Given the description of an element on the screen output the (x, y) to click on. 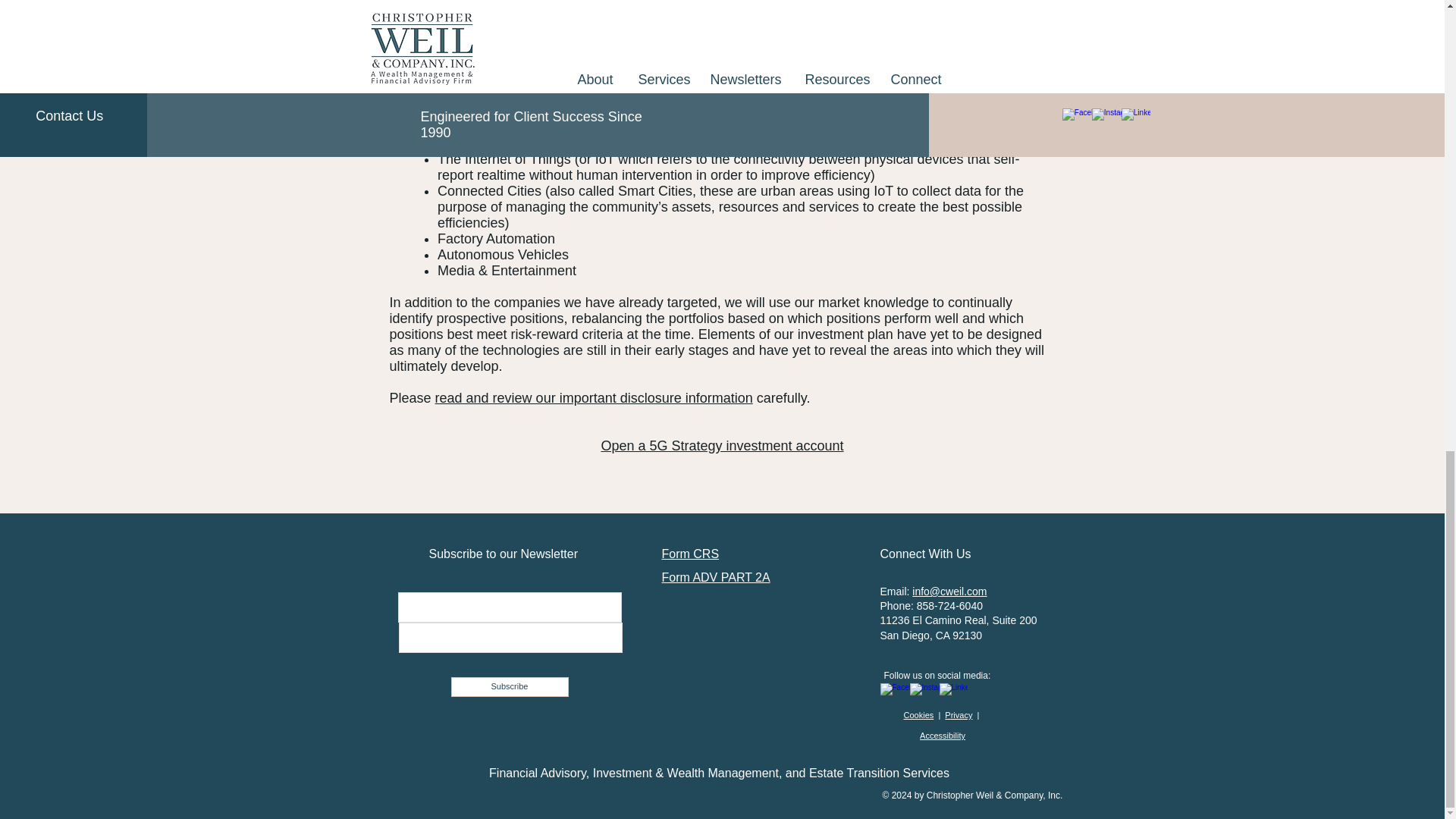
Cookies (919, 714)
Open a 5G Strategy investment account (721, 445)
Privacy (958, 714)
Form CRS (690, 553)
Subscribe (508, 686)
Form ADV PART 2A (715, 576)
read and review our important disclosure information (593, 397)
Accessibility (942, 735)
